Given the description of an element on the screen output the (x, y) to click on. 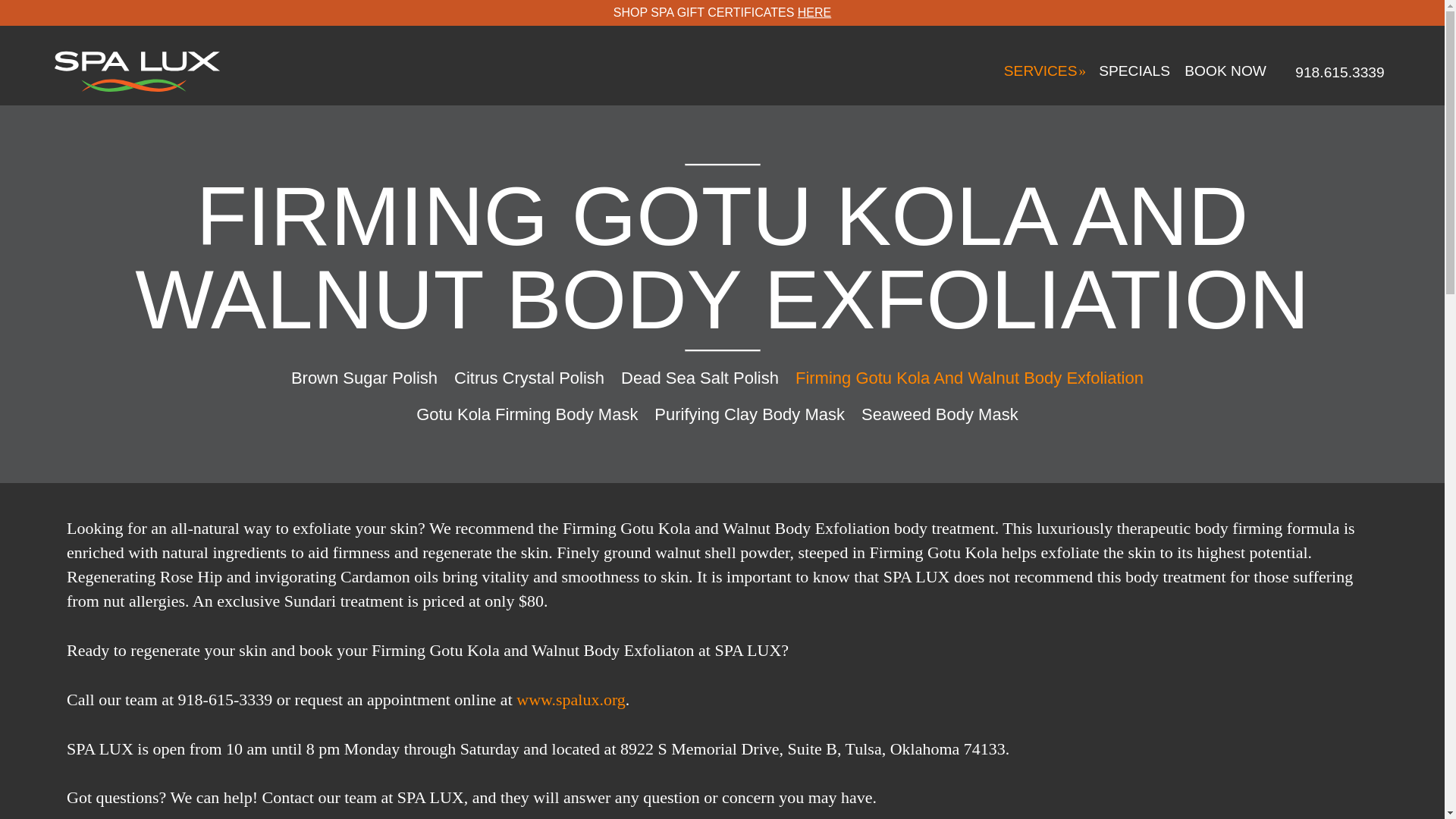
Firming Gotu Kola And Walnut Body Exfoliation (968, 373)
www.spalux.org (571, 699)
Purifying Clay Body Mask (748, 410)
918.615.3339 (1339, 51)
SERVICES (1057, 45)
BOOK NOW (1233, 49)
Citrus Crystal Polish (529, 372)
Gotu Kola Firming Body Mask (526, 410)
Brown Sugar Polish (364, 372)
Dead Sea Salt Polish (699, 373)
